Given the description of an element on the screen output the (x, y) to click on. 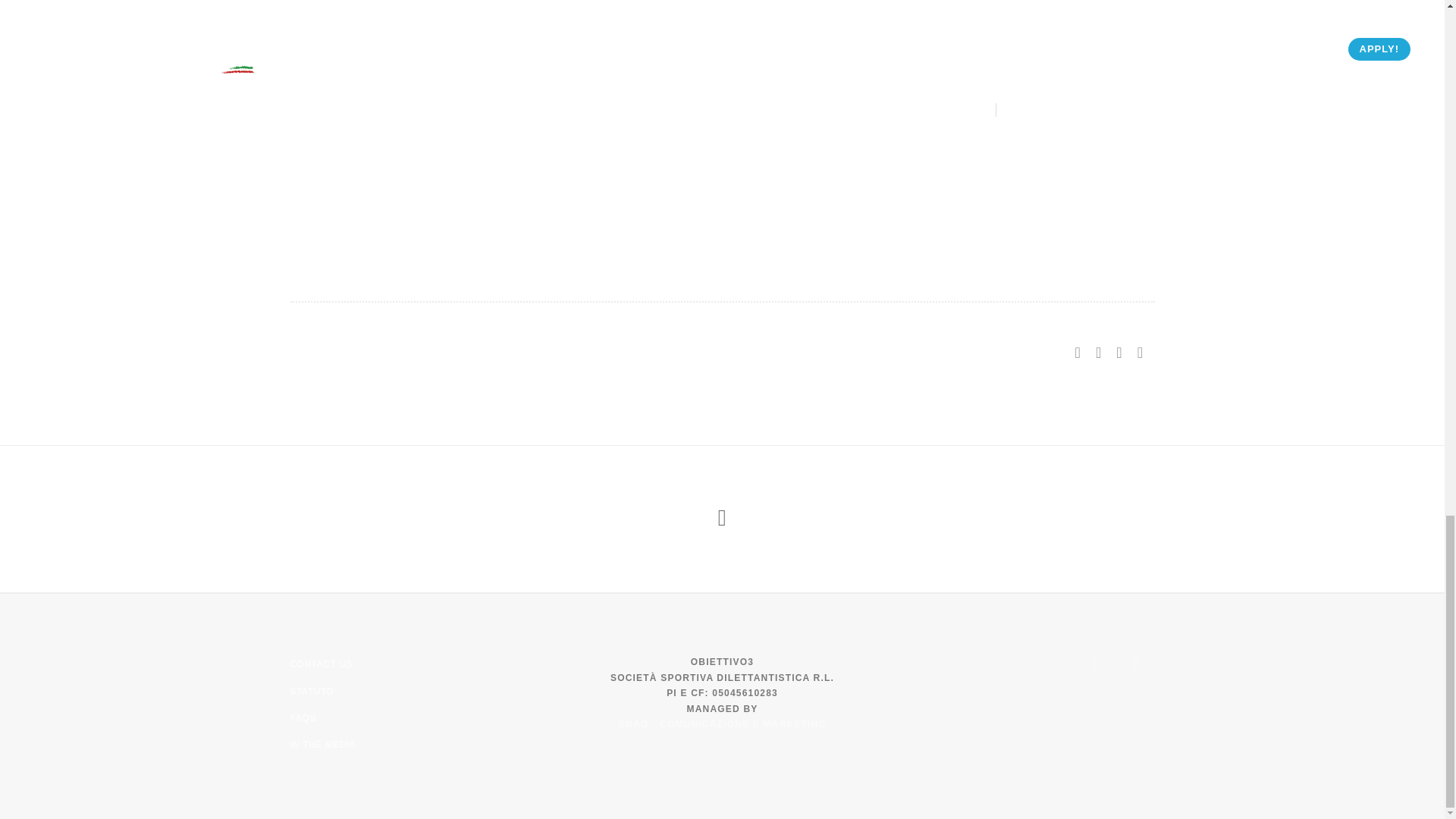
SMAG - COMUNICAZIONE E MARKETING (722, 724)
FAQS (302, 717)
IN THE MEDIA (322, 744)
STATUTO (311, 691)
CONTACT US (320, 664)
